Given the description of an element on the screen output the (x, y) to click on. 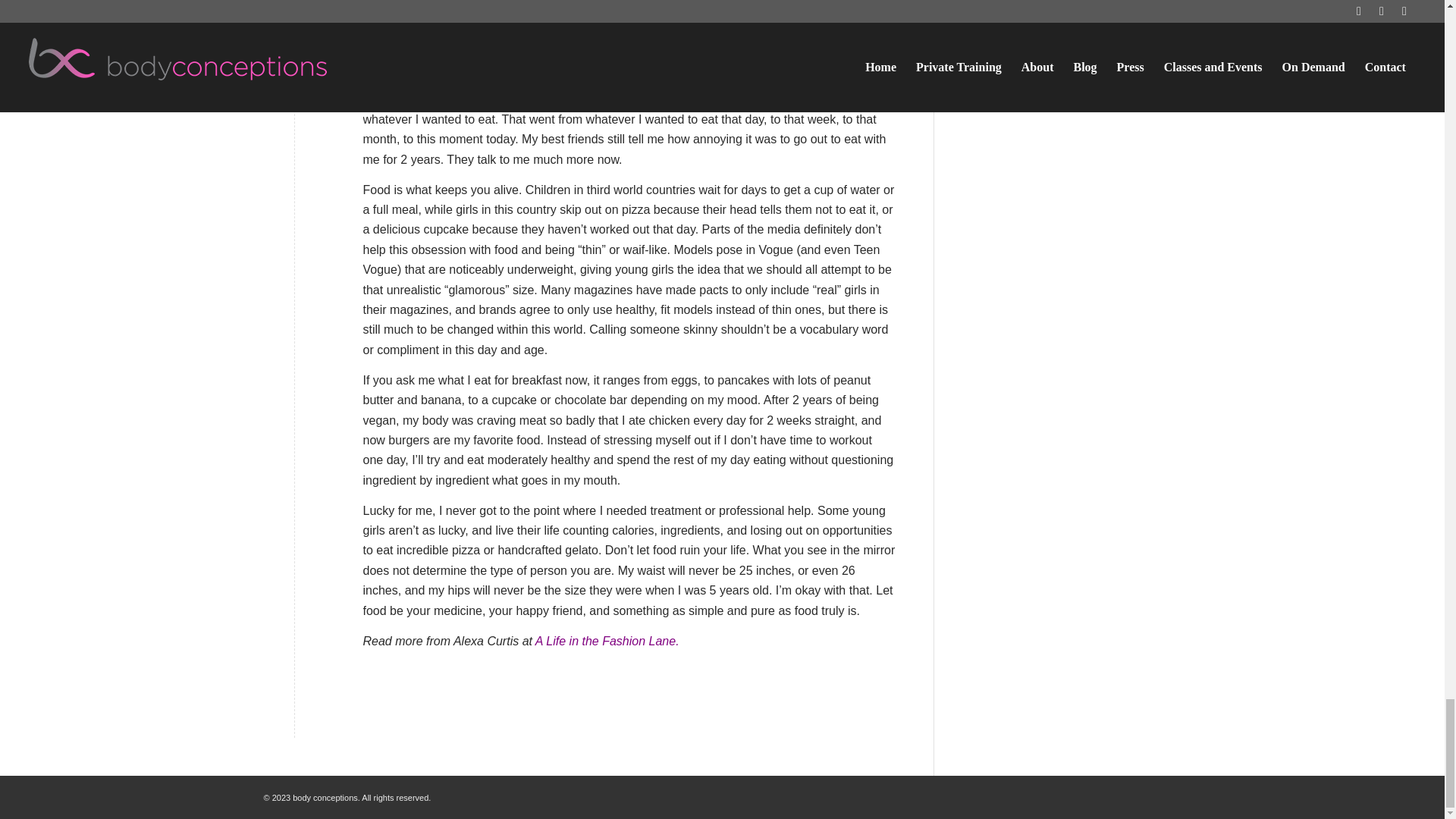
A Life in the Fashion Lane (605, 640)
